Given the description of an element on the screen output the (x, y) to click on. 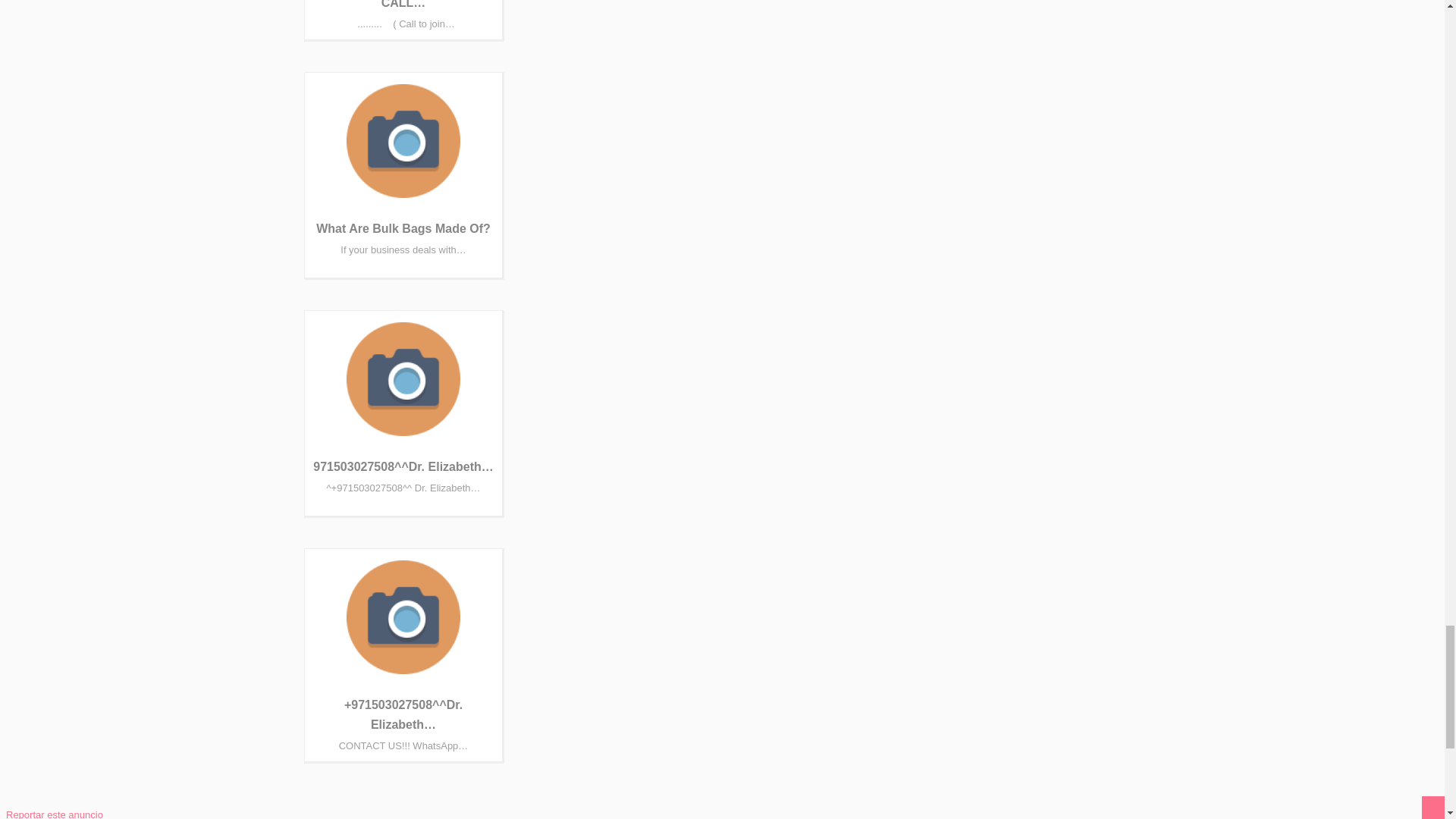
What Are Bulk Bags Made Of? (402, 228)
